Given the description of an element on the screen output the (x, y) to click on. 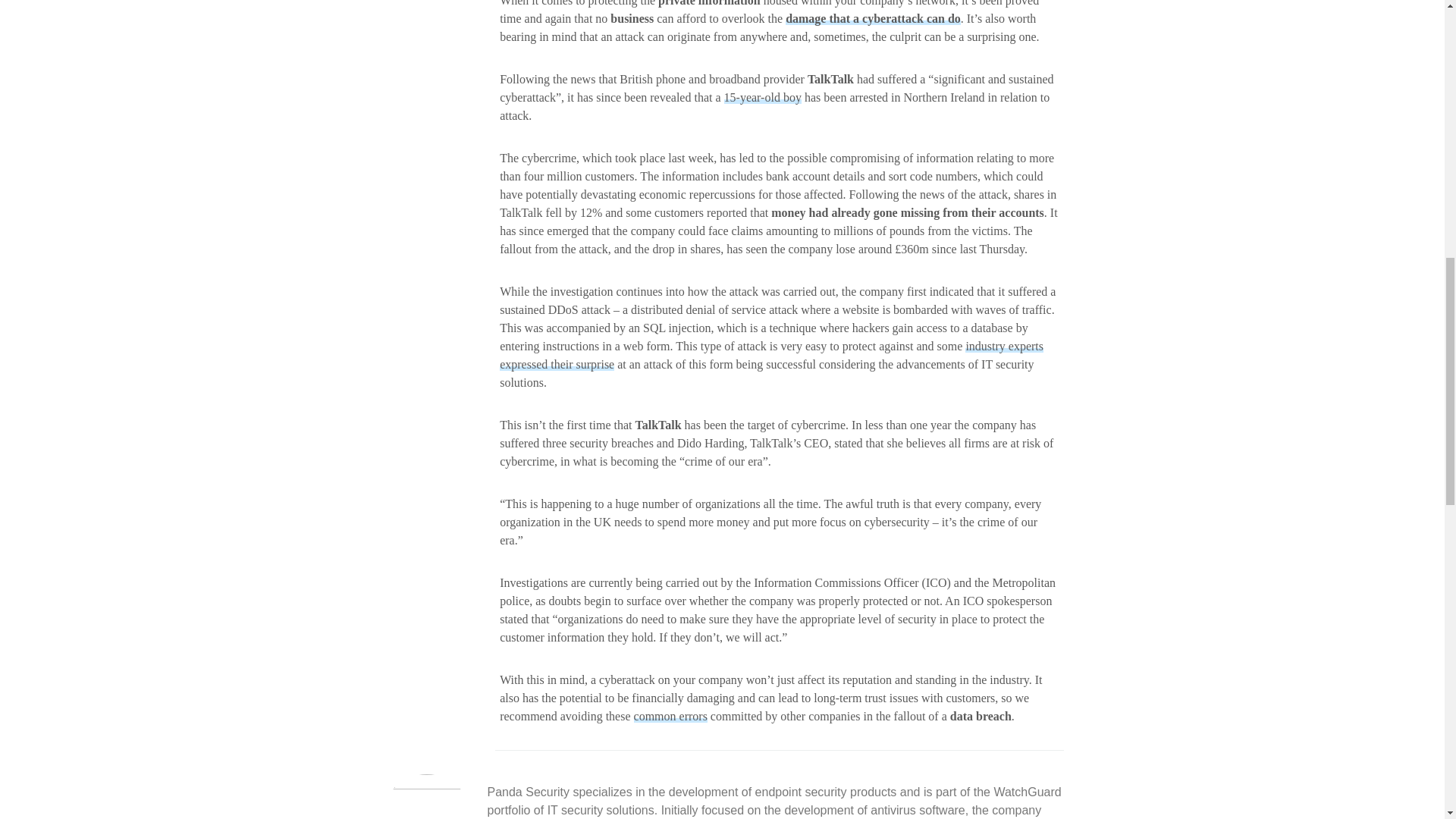
15-year-old boy (762, 97)
common errors (670, 716)
How to act after a cyber-attack (873, 18)
industry experts expressed their surprise (771, 355)
damage that a cyberattack can do (873, 18)
